Given the description of an element on the screen output the (x, y) to click on. 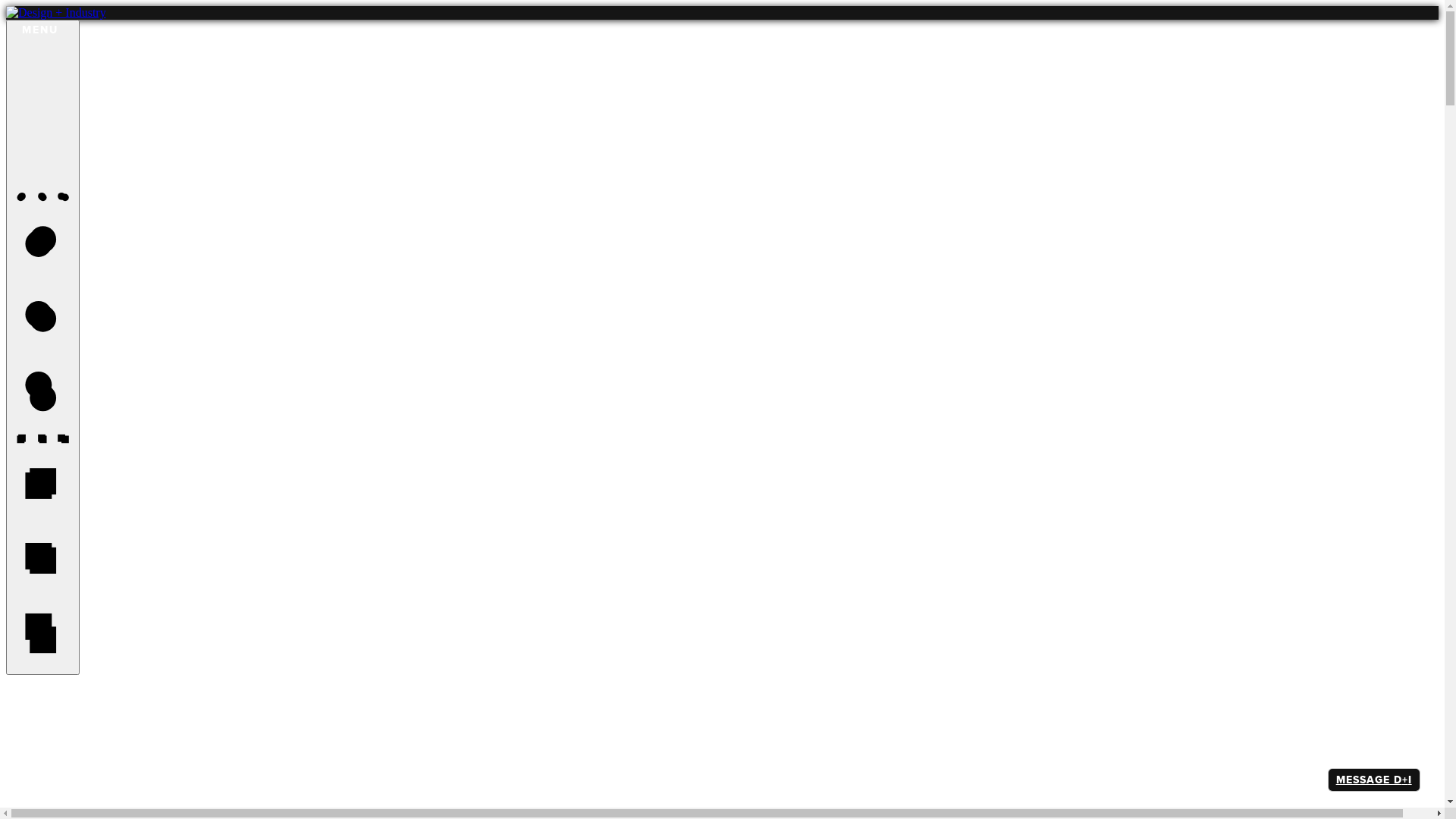
MESSAGE D+I Element type: text (1373, 779)
